Given the description of an element on the screen output the (x, y) to click on. 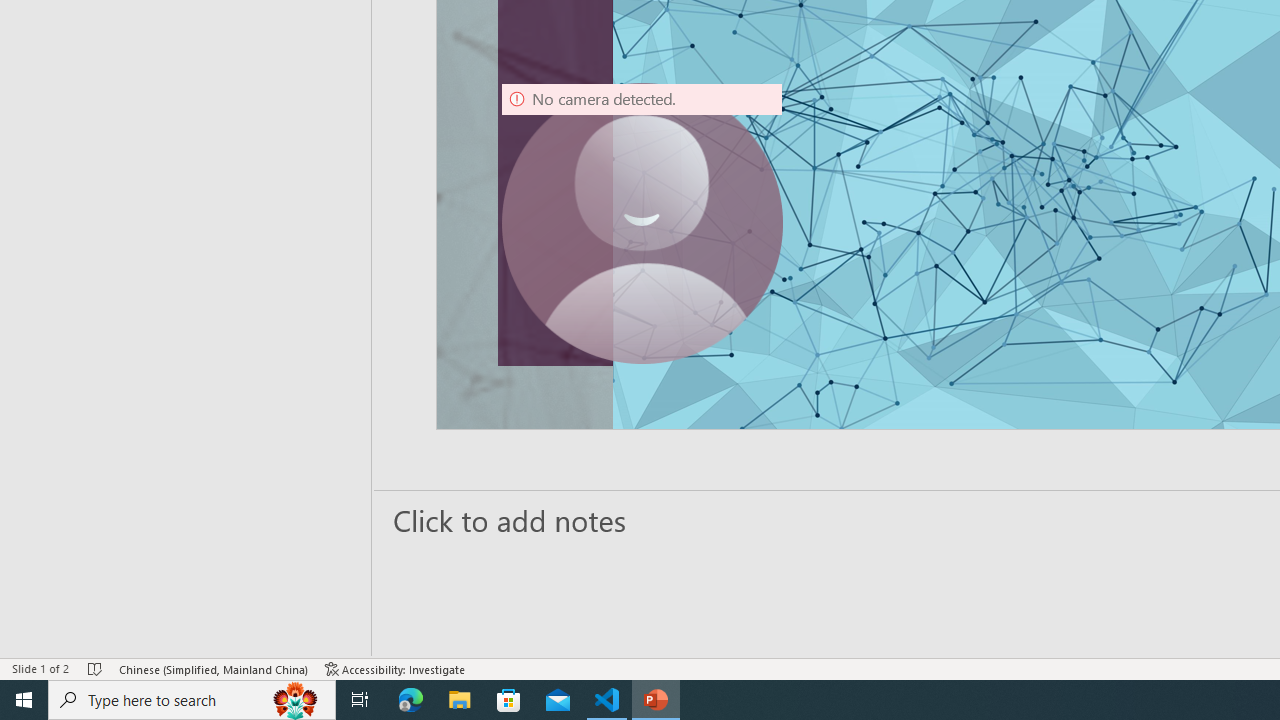
Camera 9, No camera detected. (641, 223)
Microsoft Edge (411, 699)
